Given the description of an element on the screen output the (x, y) to click on. 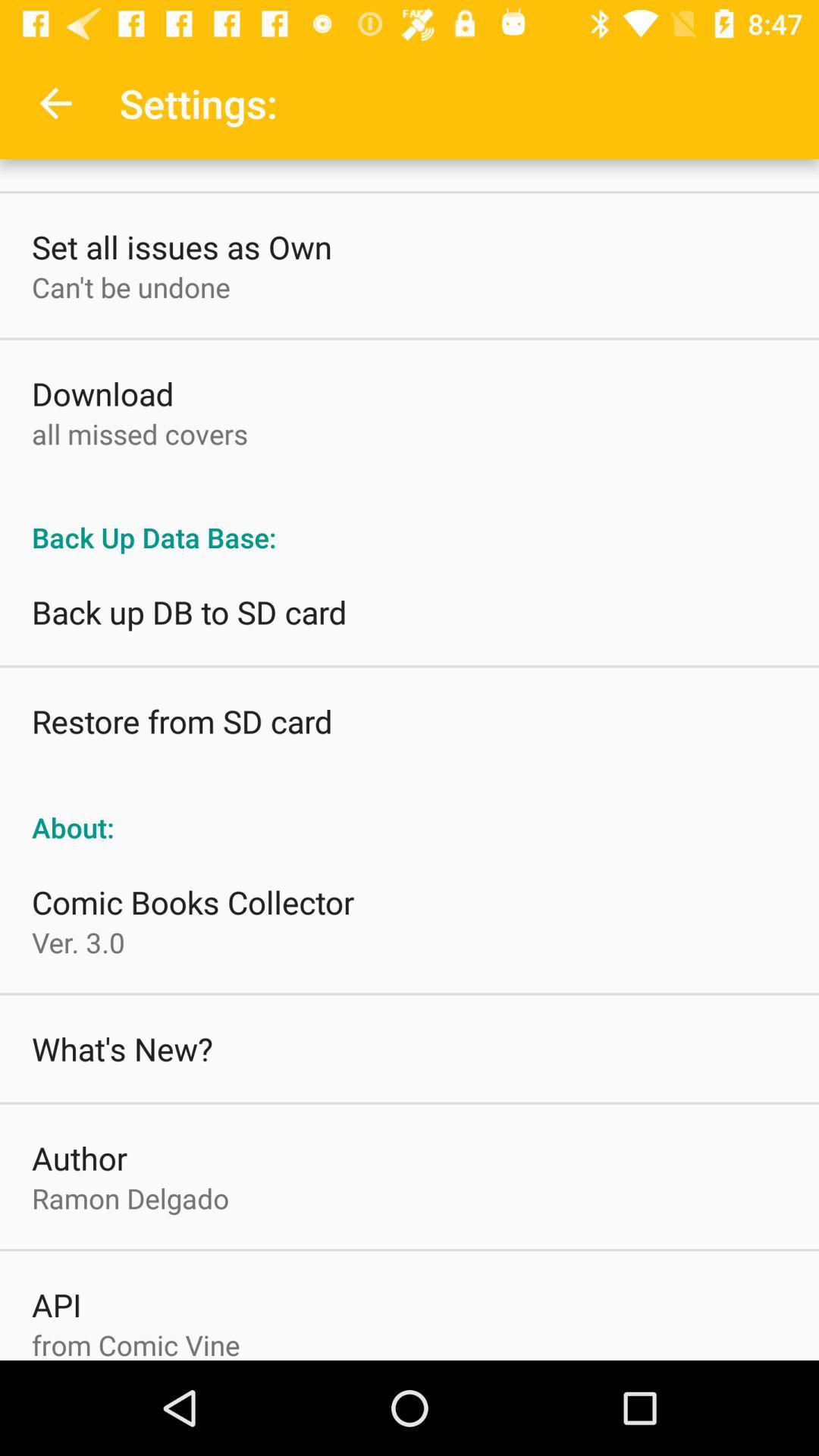
turn off the icon below the can t be icon (102, 393)
